Given the description of an element on the screen output the (x, y) to click on. 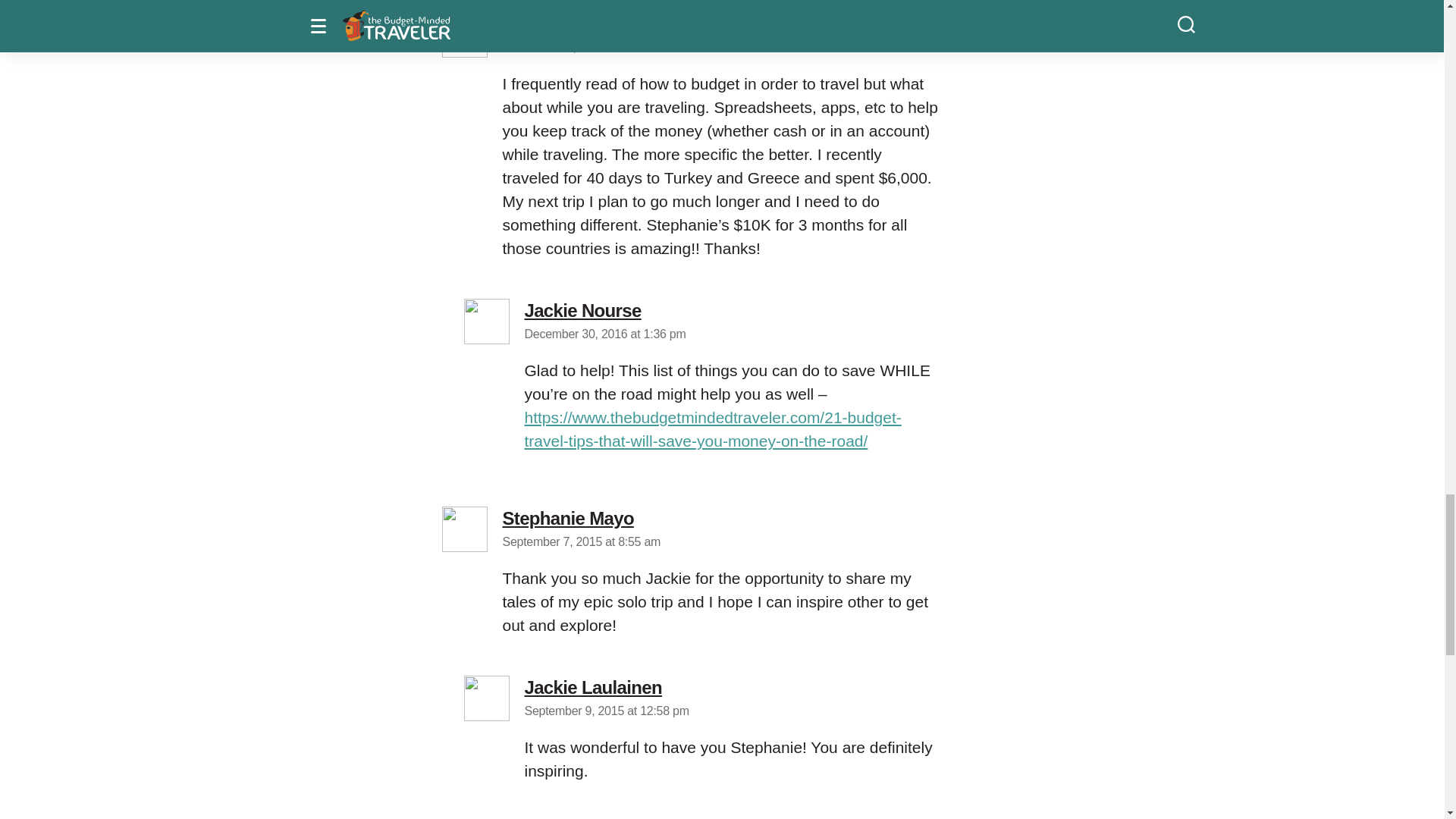
September 7, 2015 at 8:55 am (581, 541)
December 30, 2016 at 1:36 pm (604, 333)
September 9, 2015 at 12:58 pm (583, 310)
December 30, 2016 at 12:26 am (606, 710)
